Given the description of an element on the screen output the (x, y) to click on. 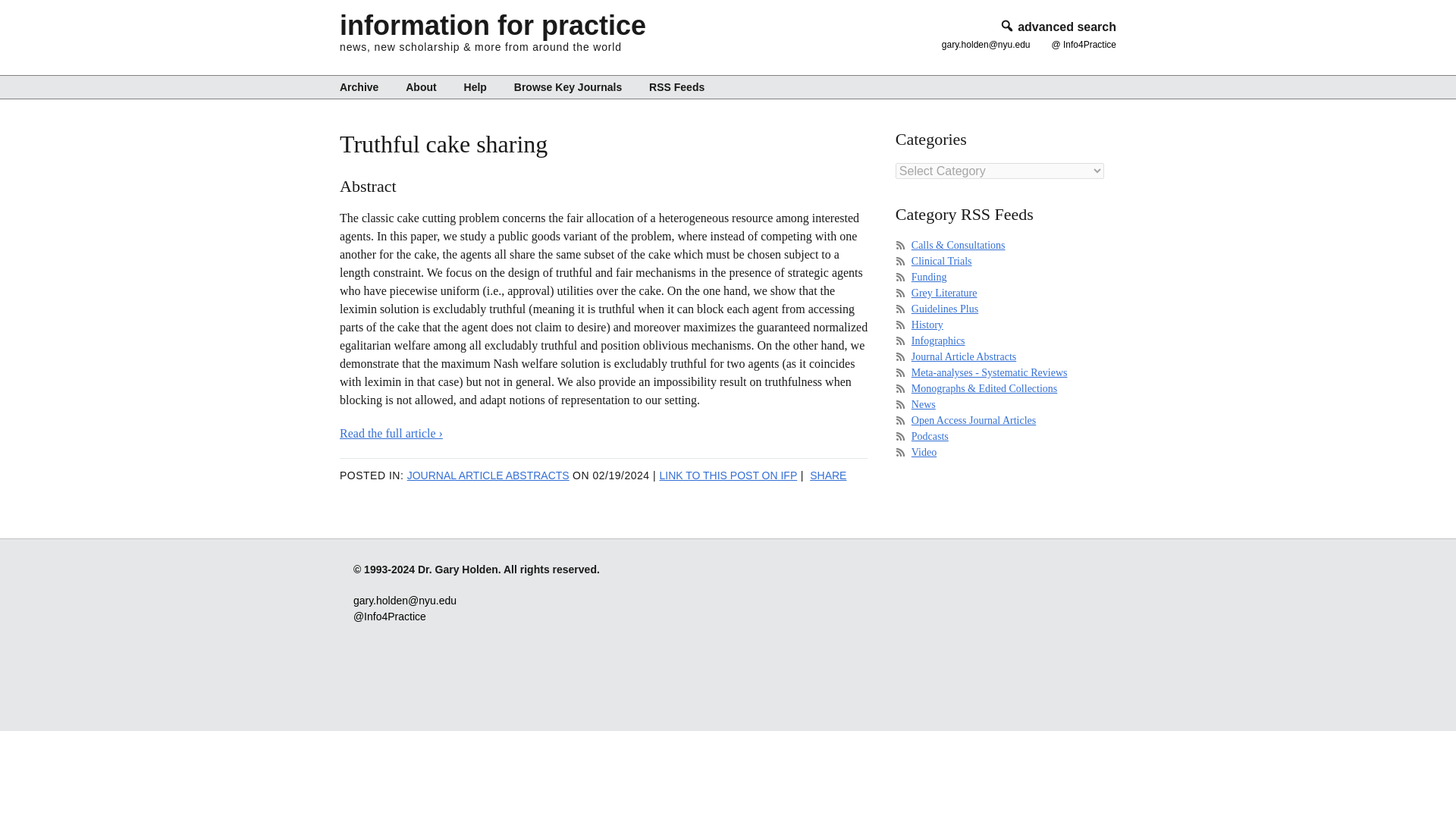
Archive (364, 87)
Grey Literature (943, 292)
Help (475, 87)
Open Access Journal Articles (973, 419)
RSS Feeds (670, 87)
JOURNAL ARTICLE ABSTRACTS (488, 475)
Infographics (938, 340)
advanced search (1057, 26)
About (420, 87)
